Given the description of an element on the screen output the (x, y) to click on. 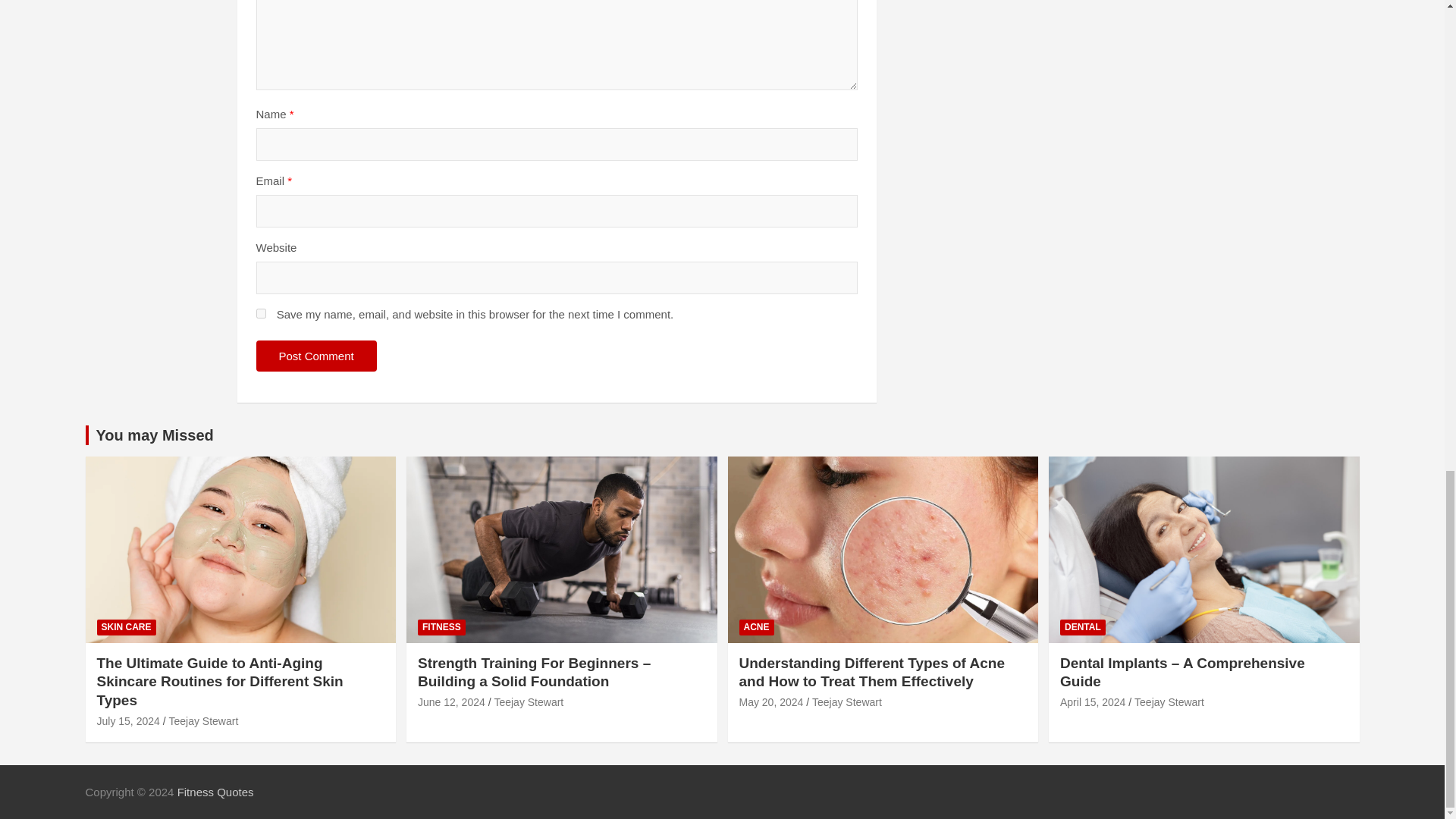
Fitness Quotes (215, 791)
yes (261, 313)
Post Comment (316, 355)
SKIN CARE (126, 627)
July 15, 2024 (128, 720)
FITNESS (441, 627)
Teejay Stewart (203, 720)
Post Comment (316, 355)
